Given the description of an element on the screen output the (x, y) to click on. 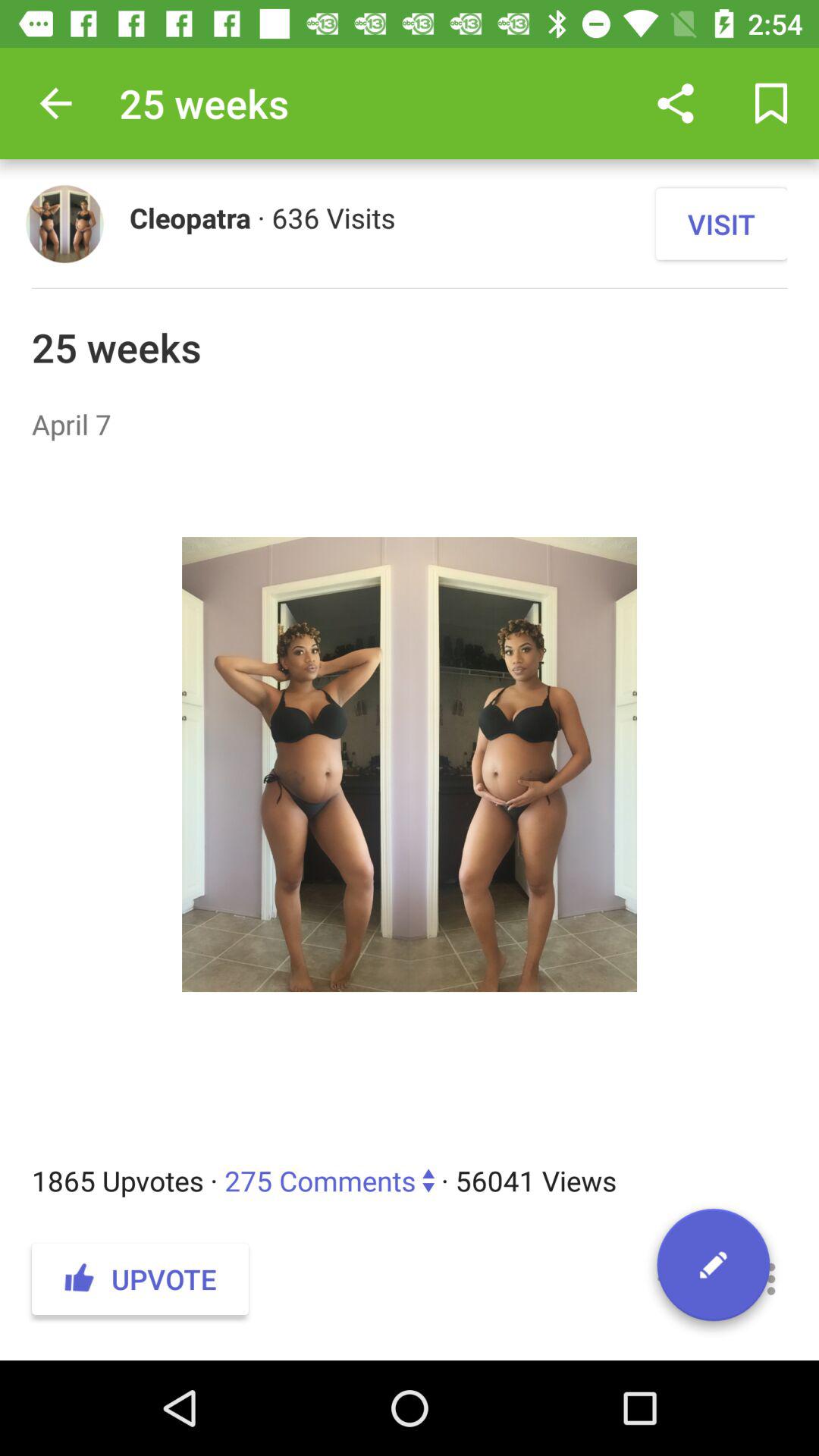
tap the item next to the upvote item (675, 1278)
